Given the description of an element on the screen output the (x, y) to click on. 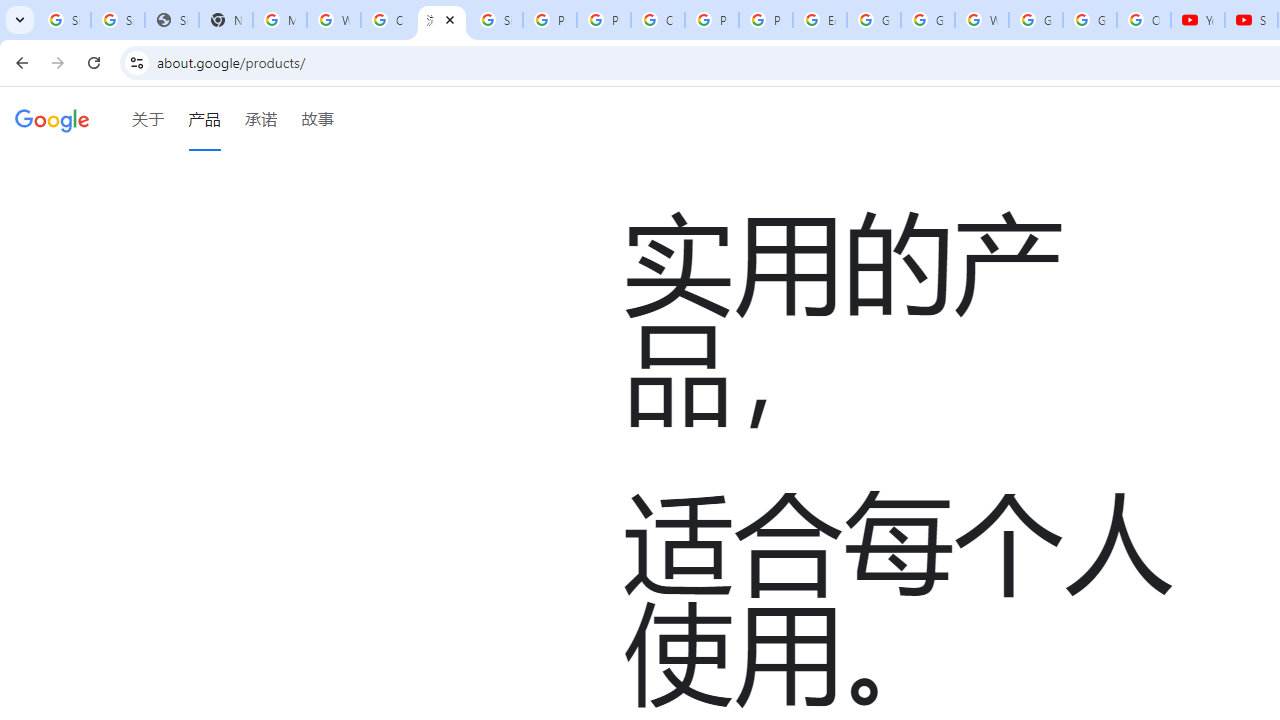
Create your Google Account (387, 20)
Google (52, 119)
Sign in - Google Accounts (495, 20)
